Given the description of an element on the screen output the (x, y) to click on. 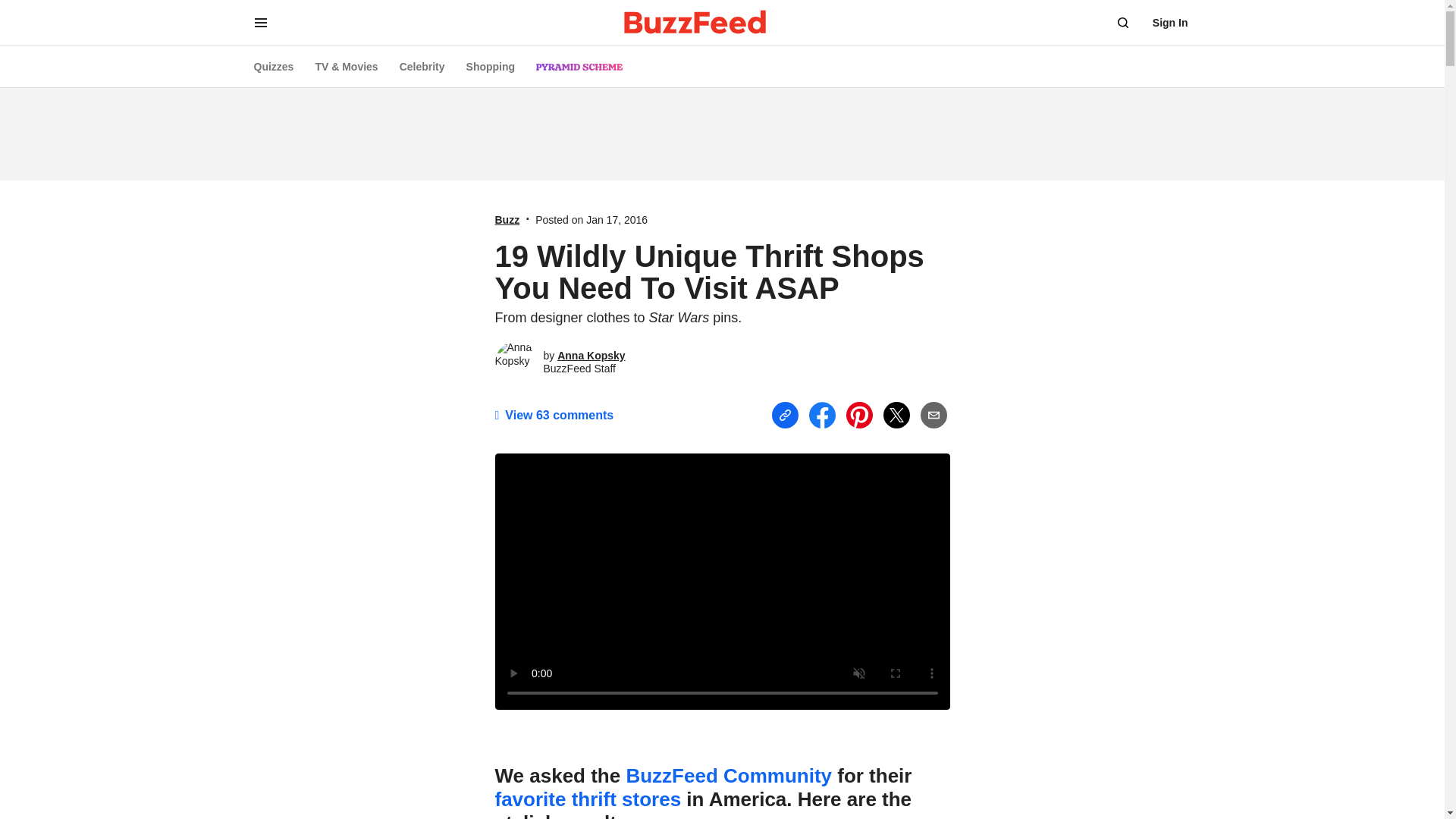
Mail (933, 414)
Sign In (1170, 22)
Pinterest (858, 415)
Twitter (895, 414)
Link (784, 414)
Facebook (821, 415)
